Given the description of an element on the screen output the (x, y) to click on. 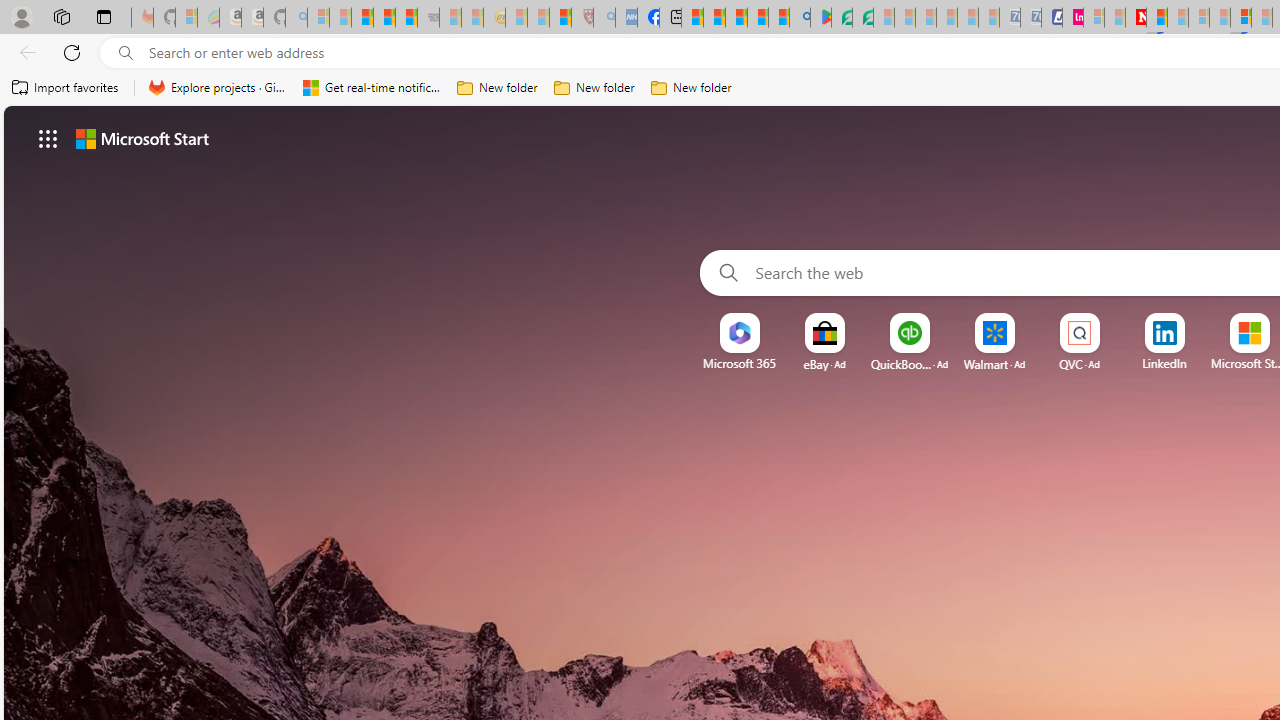
Pets - MSN (757, 17)
Latest Politics News & Archive | Newsweek.com (1135, 17)
